Given the description of an element on the screen output the (x, y) to click on. 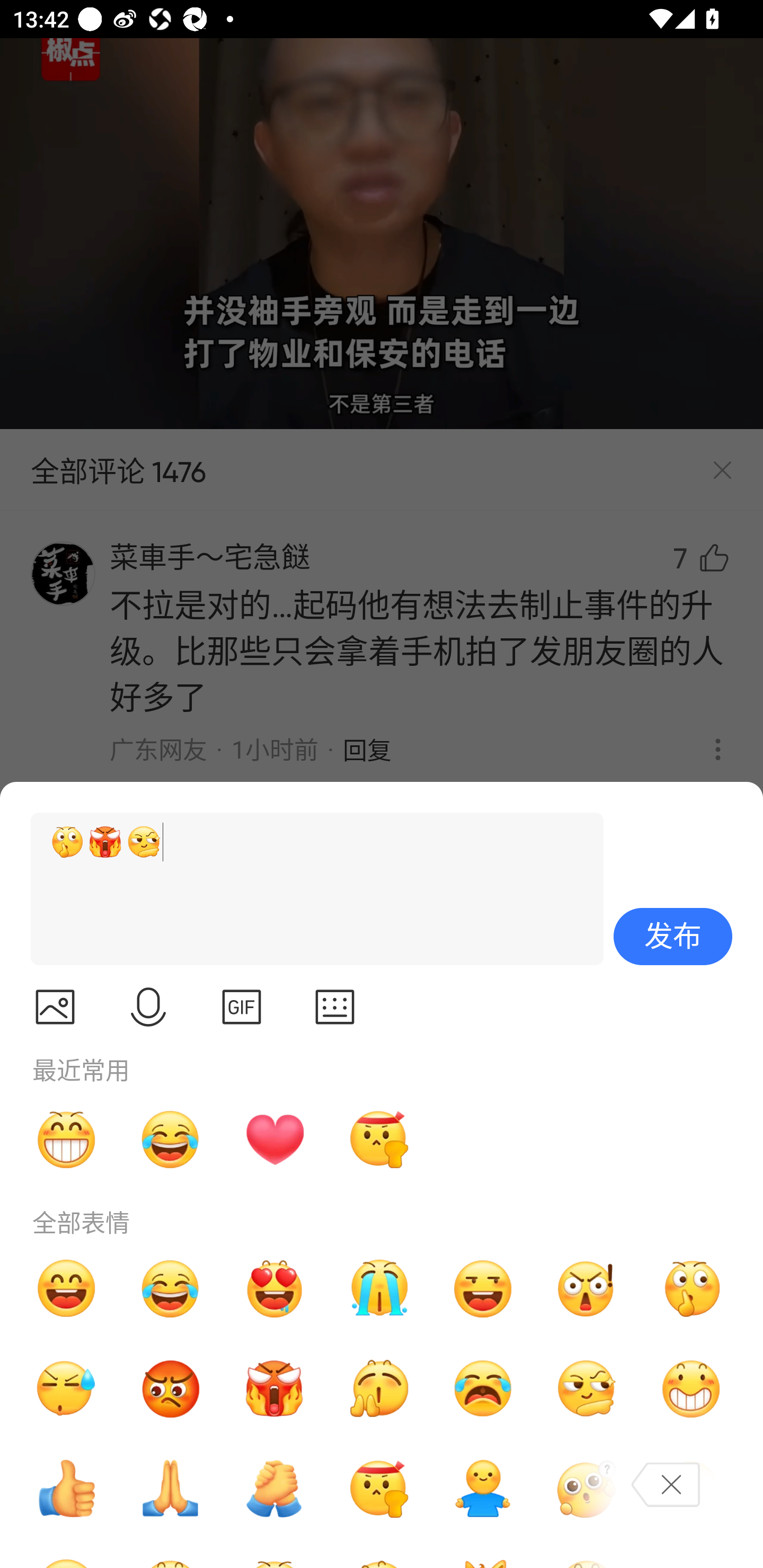
[嘘][愤怒][机智] (308, 888)
发布 (672, 936)
 (54, 1007)
 (148, 1007)
 (241, 1007)
 (334, 1007)
呲牙 (66, 1138)
哭笑 (170, 1138)
心 (274, 1138)
奋斗 (378, 1138)
哈哈 (66, 1288)
哭笑 (170, 1288)
喜欢 (274, 1288)
哭 (378, 1288)
嘿嘿 (482, 1288)
吃惊 (586, 1288)
嘘 (690, 1288)
汗 (66, 1389)
生气 (170, 1389)
愤怒 (274, 1389)
喝彩 (378, 1389)
抓狂 (482, 1389)
机智 (586, 1389)
坏笑 (690, 1389)
点赞 (66, 1488)
缅怀 (170, 1488)
加油 (274, 1488)
奋斗 (378, 1488)
抱抱 (482, 1488)
疑问 (586, 1488)
